Given the description of an element on the screen output the (x, y) to click on. 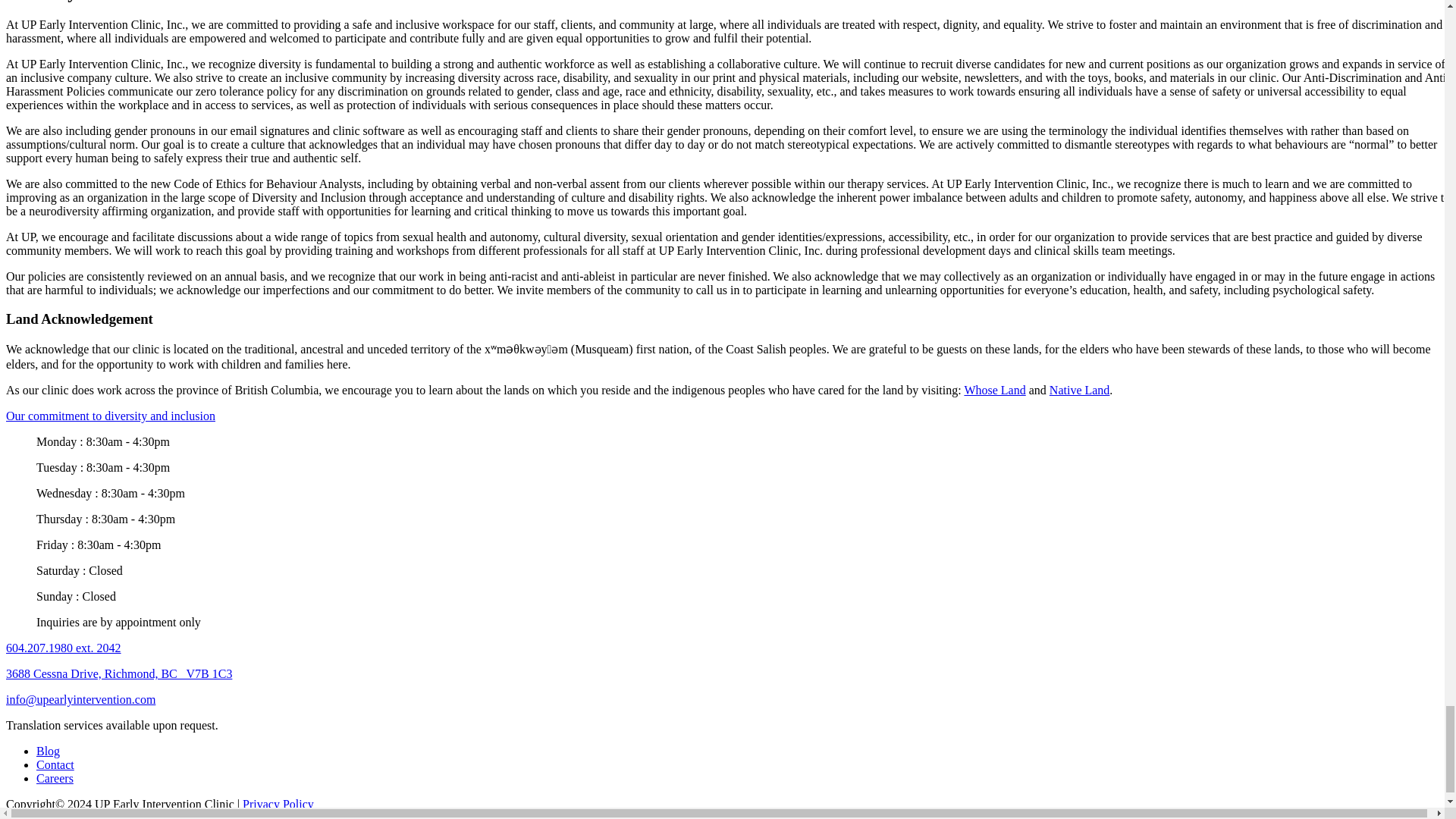
Whose Land (994, 390)
Our commitment to diversity and inclusion (110, 415)
Native Land (1079, 390)
